Given the description of an element on the screen output the (x, y) to click on. 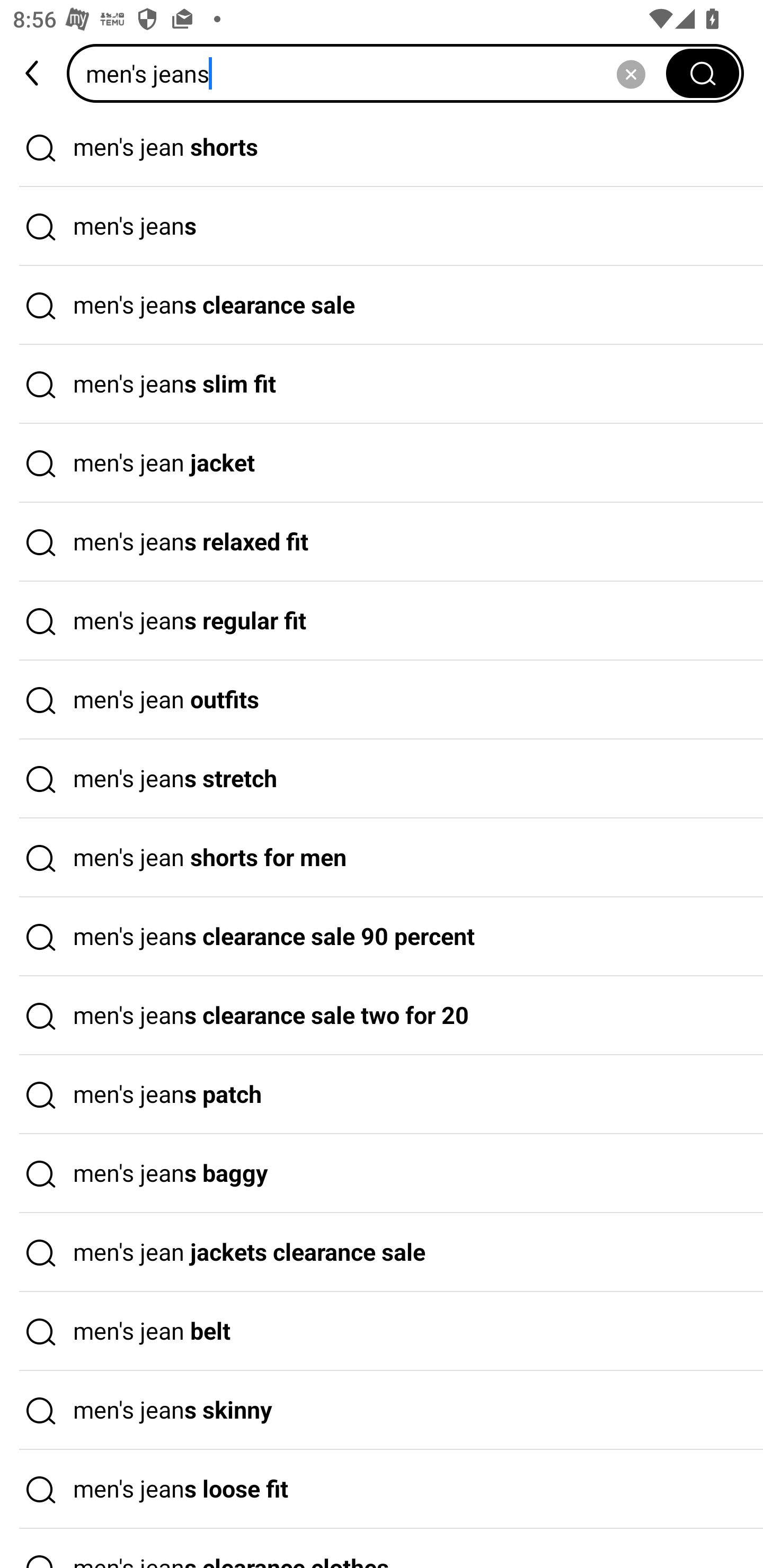
back (33, 72)
men's jeans (372, 73)
Delete search history (630, 73)
men's jean shorts (381, 147)
men's jeans (381, 226)
men's jeans clearance sale (381, 305)
men's jeans slim fit (381, 383)
men's jean jacket (381, 463)
men's jeans relaxed fit (381, 542)
men's jeans regular fit (381, 620)
men's jean outfits (381, 700)
men's jeans stretch (381, 779)
men's jean shorts for men (381, 857)
men's jeans clearance sale 90 percent (381, 936)
men's jeans clearance sale two for 20 (381, 1015)
men's jeans patch (381, 1094)
men's jeans baggy (381, 1173)
men's jean jackets clearance sale (381, 1252)
men's jean belt (381, 1331)
men's jeans skinny (381, 1410)
men's jeans loose fit (381, 1489)
